Given the description of an element on the screen output the (x, y) to click on. 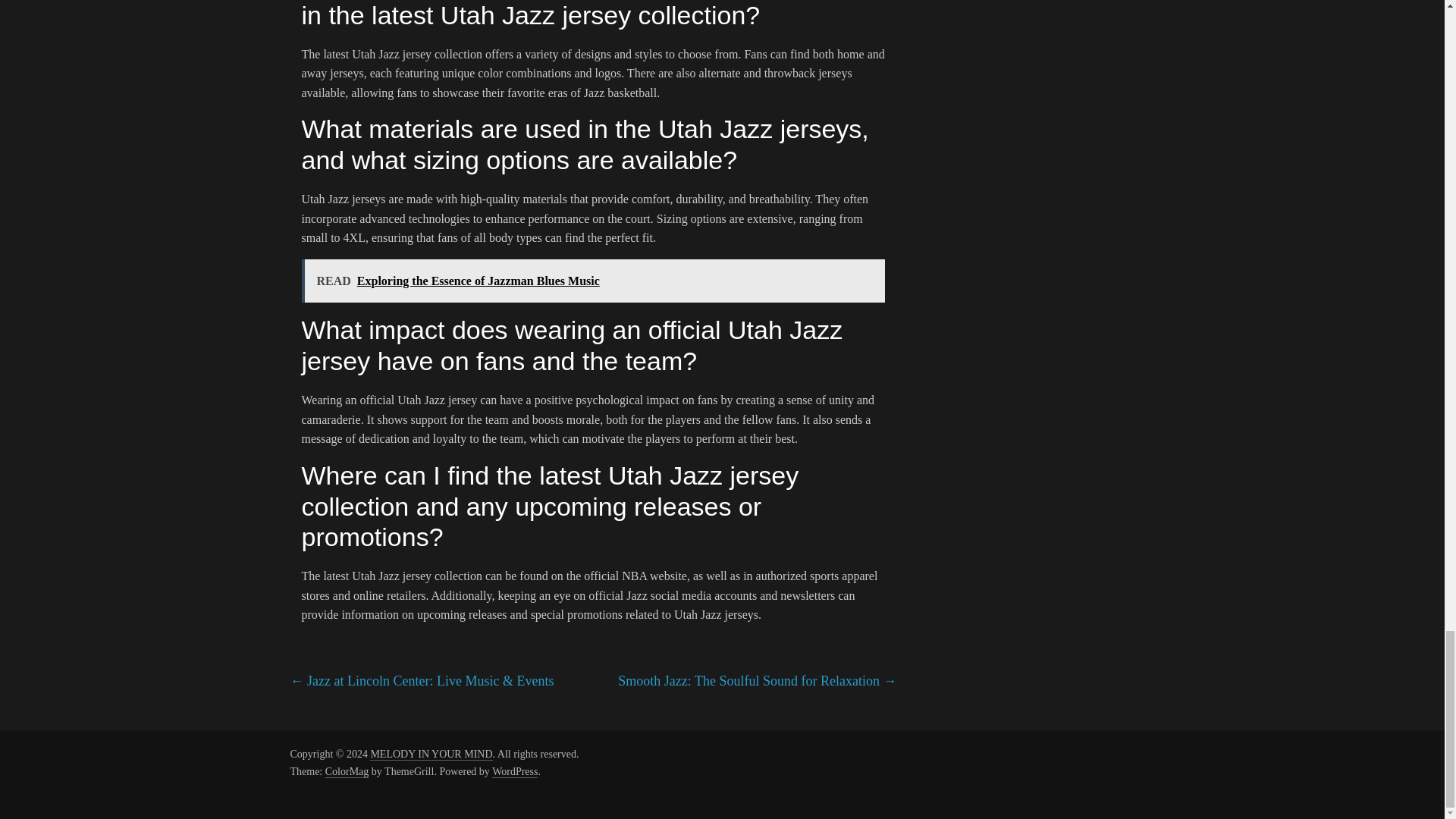
WordPress (514, 771)
ColorMag (346, 771)
WordPress (514, 771)
ColorMag (346, 771)
MELODY IN YOUR MIND (430, 754)
MELODY IN YOUR MIND (430, 754)
READ  Exploring the Essence of Jazzman Blues Music (593, 281)
